Given the description of an element on the screen output the (x, y) to click on. 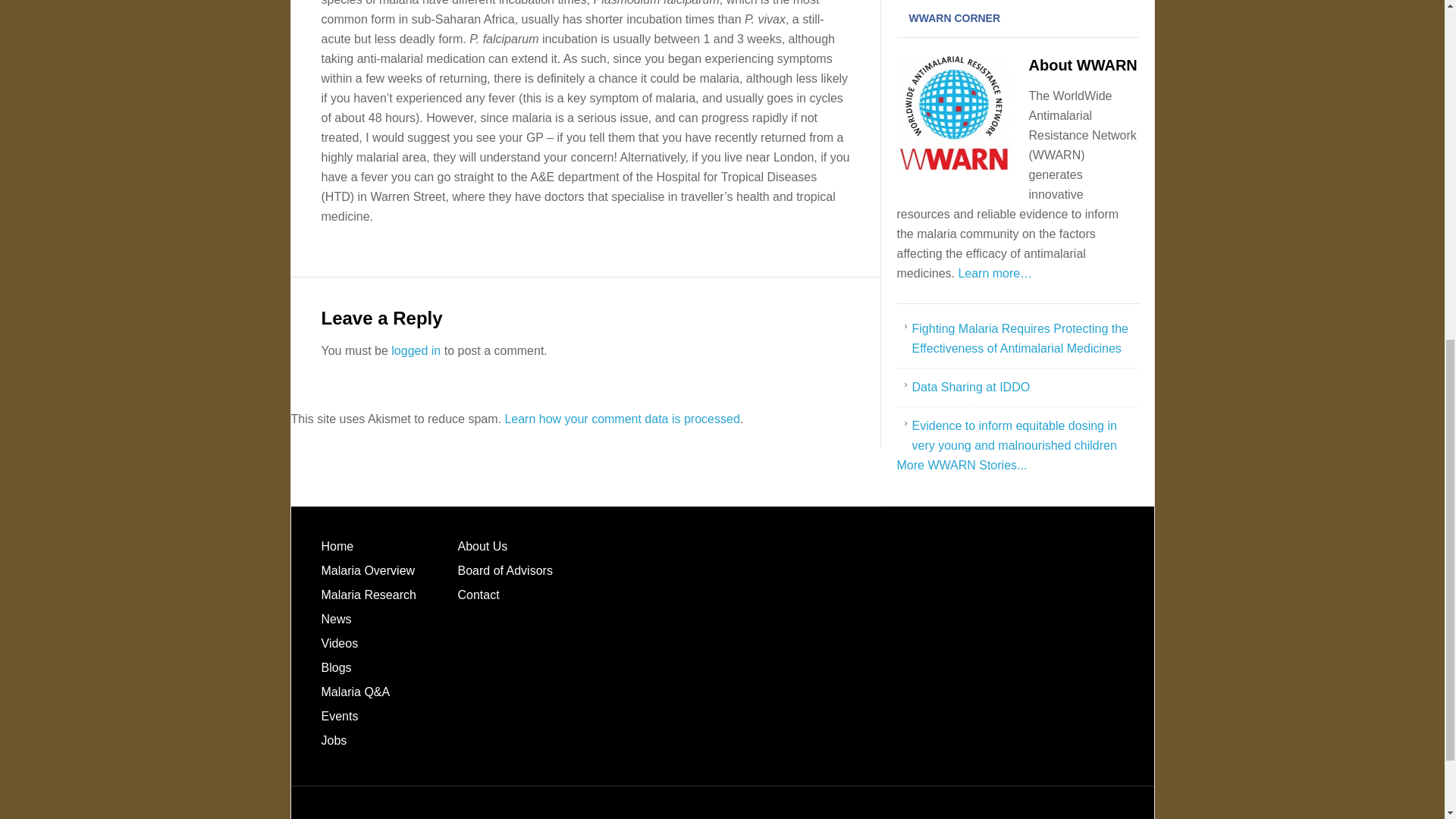
More WWARN Stories... (961, 464)
Malaria Overview (367, 570)
Blogs (336, 667)
logged in (416, 350)
Home (337, 545)
Malaria Research (368, 594)
Learn how your comment data is processed (621, 418)
WWARN (961, 464)
News (336, 618)
Videos (339, 643)
Data Sharing at IDDO (970, 386)
About WWARN (1082, 64)
